Given the description of an element on the screen output the (x, y) to click on. 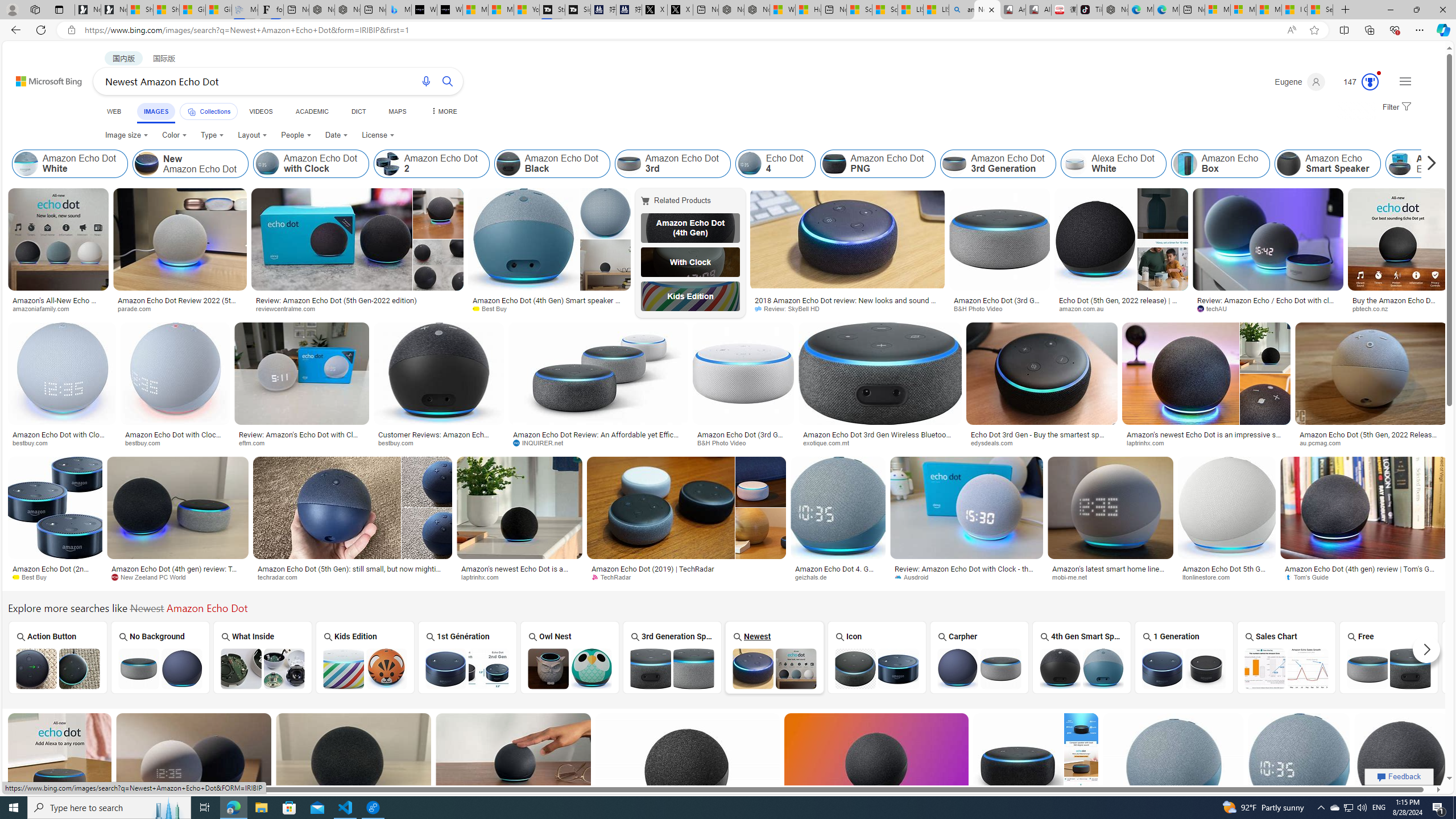
TechRadar (615, 576)
techradar.com (281, 576)
parade.com (179, 308)
Filter (1395, 107)
Amazon Echo Dot 1 Generation 1 Generation (1184, 656)
Amazon Echo Dot (4th Gen) (689, 227)
Free Amazon Echo Dot (1387, 668)
Date (336, 135)
Type (212, 135)
